Given the description of an element on the screen output the (x, y) to click on. 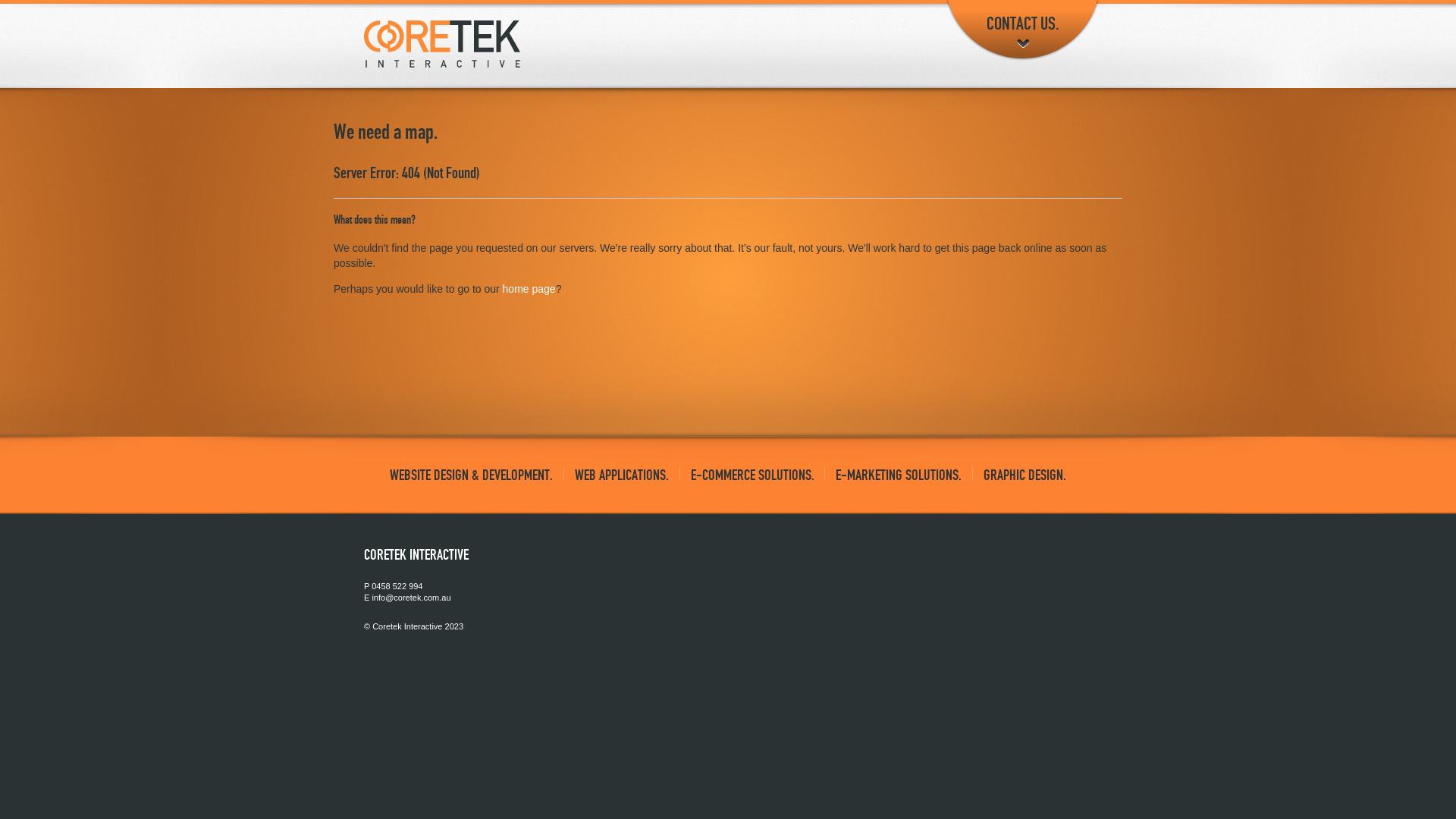
E-MARKETING SOLUTIONS. Element type: text (898, 475)
info@coretek.com.au Element type: text (410, 597)
E-COMMERCE SOLUTIONS. Element type: text (751, 475)
GRAPHIC DESIGN. Element type: text (1024, 475)
CONTACT US. Element type: text (1022, 30)
WEBSITE DESIGN & DEVELOPMENT. Element type: text (470, 475)
home page Element type: text (528, 288)
WEB APPLICATIONS. Element type: text (621, 475)
